Given the description of an element on the screen output the (x, y) to click on. 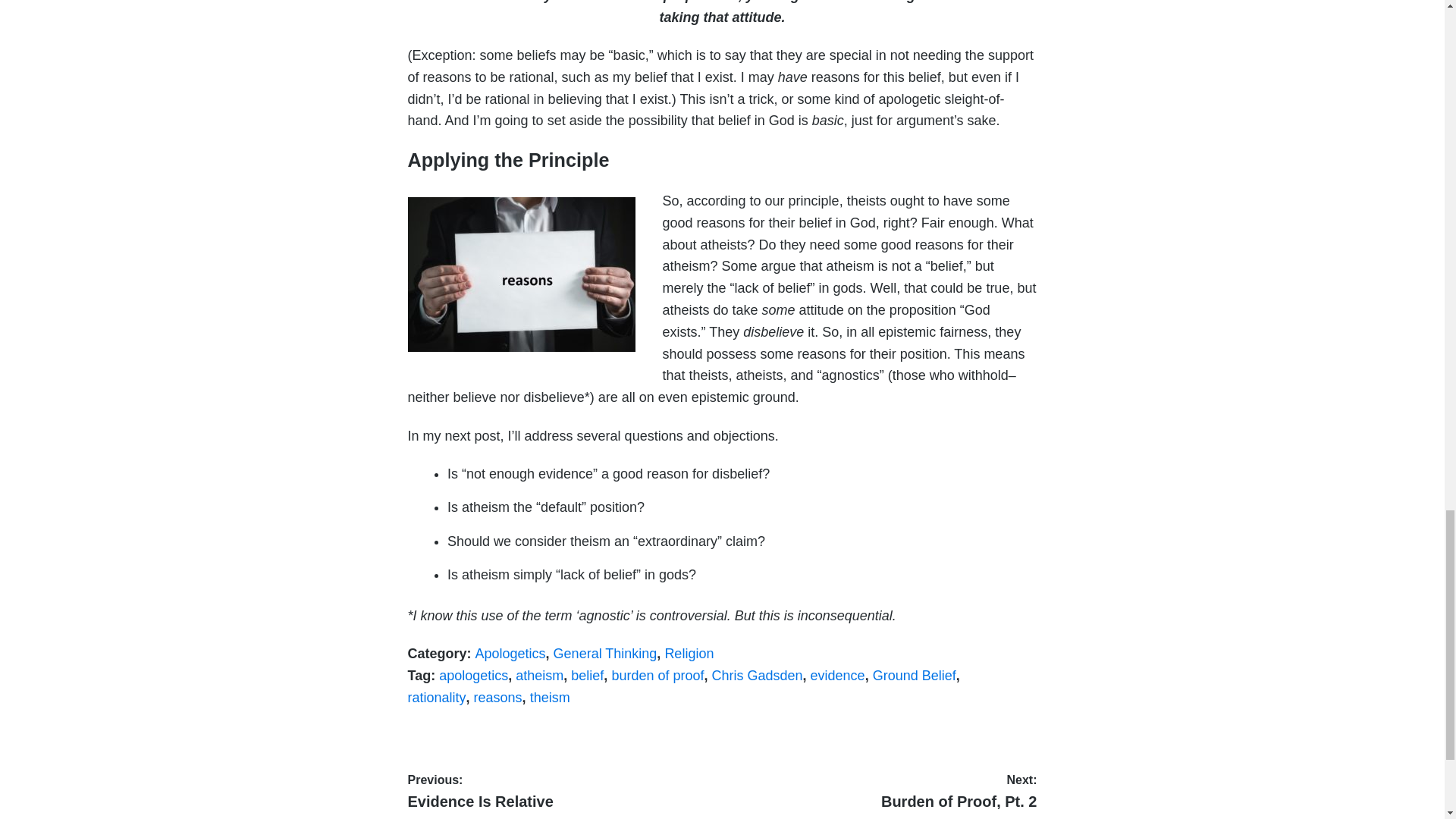
Chris Gadsden (756, 675)
Apologetics (511, 653)
atheism (539, 675)
apologetics (473, 675)
General Thinking (605, 653)
rationality (436, 697)
burden of proof (657, 675)
Ground Belief (914, 675)
theism (561, 790)
Religion (882, 790)
belief (549, 697)
reasons (688, 653)
evidence (587, 675)
